Given the description of an element on the screen output the (x, y) to click on. 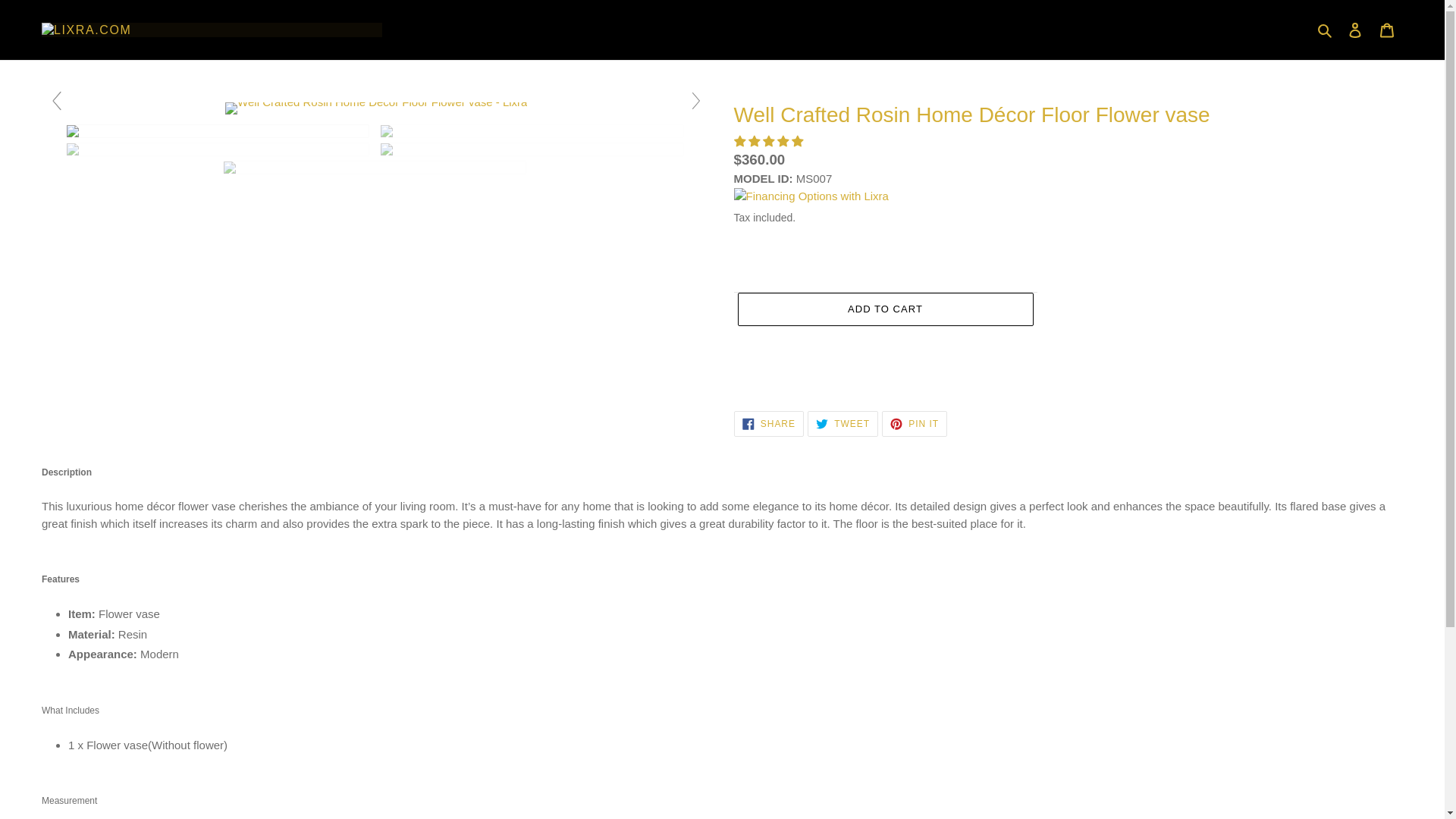
Log in (1355, 29)
Search (768, 423)
Cart (1326, 29)
ADD TO CART (1387, 29)
